Given the description of an element on the screen output the (x, y) to click on. 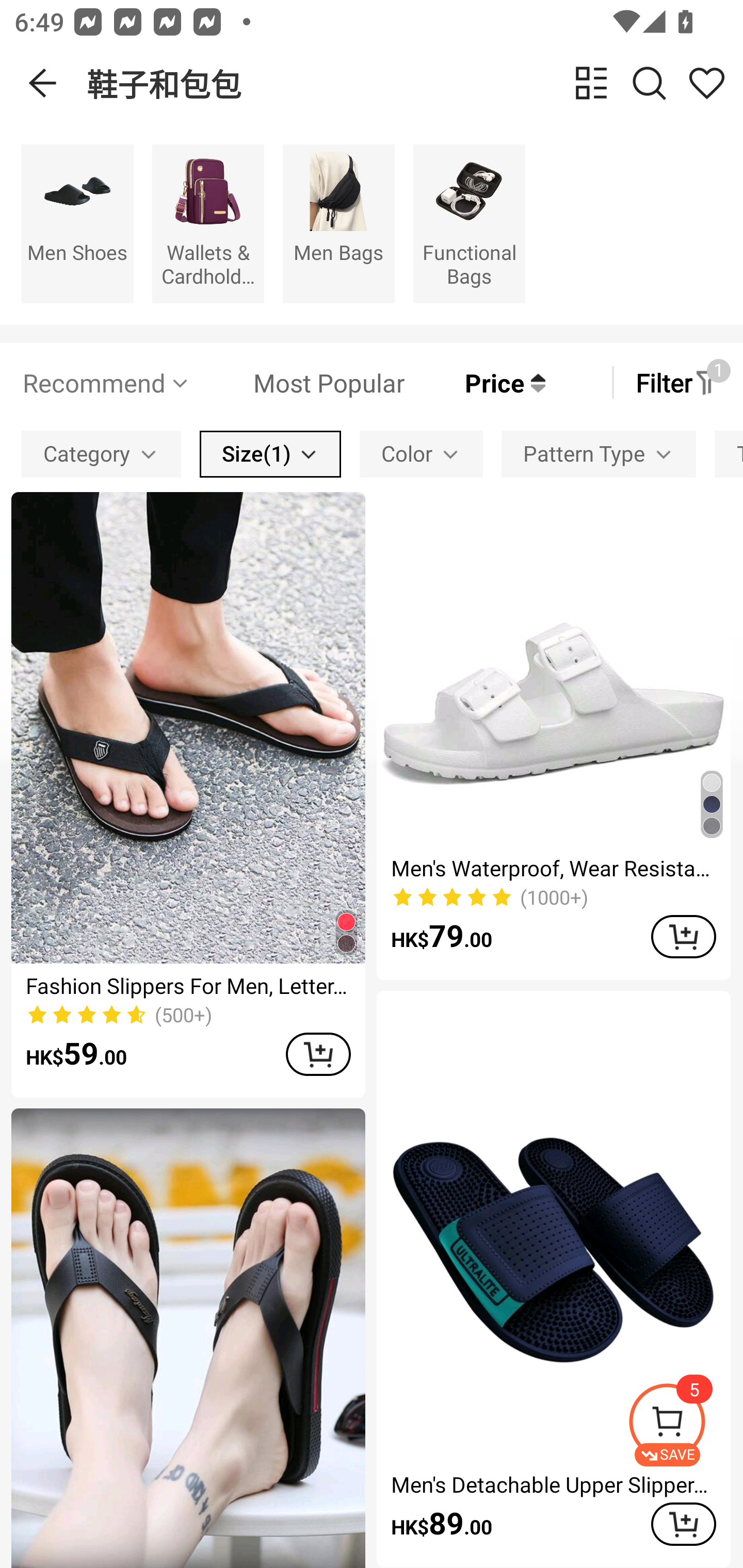
鞋子和包包 change view Search Share (414, 82)
change view (591, 82)
Search (648, 82)
Share (706, 82)
Men Shoes (77, 223)
Wallets & Cardholders (208, 223)
Men Bags (338, 223)
Functional Bags (469, 223)
Recommend (106, 382)
Most Popular (297, 382)
Price (474, 382)
Filter 1 (677, 382)
Category (101, 454)
Size(1) (270, 454)
Color (420, 454)
Pattern Type (598, 454)
ADD TO CART (683, 936)
ADD TO CART (318, 1054)
SAVE (685, 1424)
ADD TO CART (683, 1524)
